Given the description of an element on the screen output the (x, y) to click on. 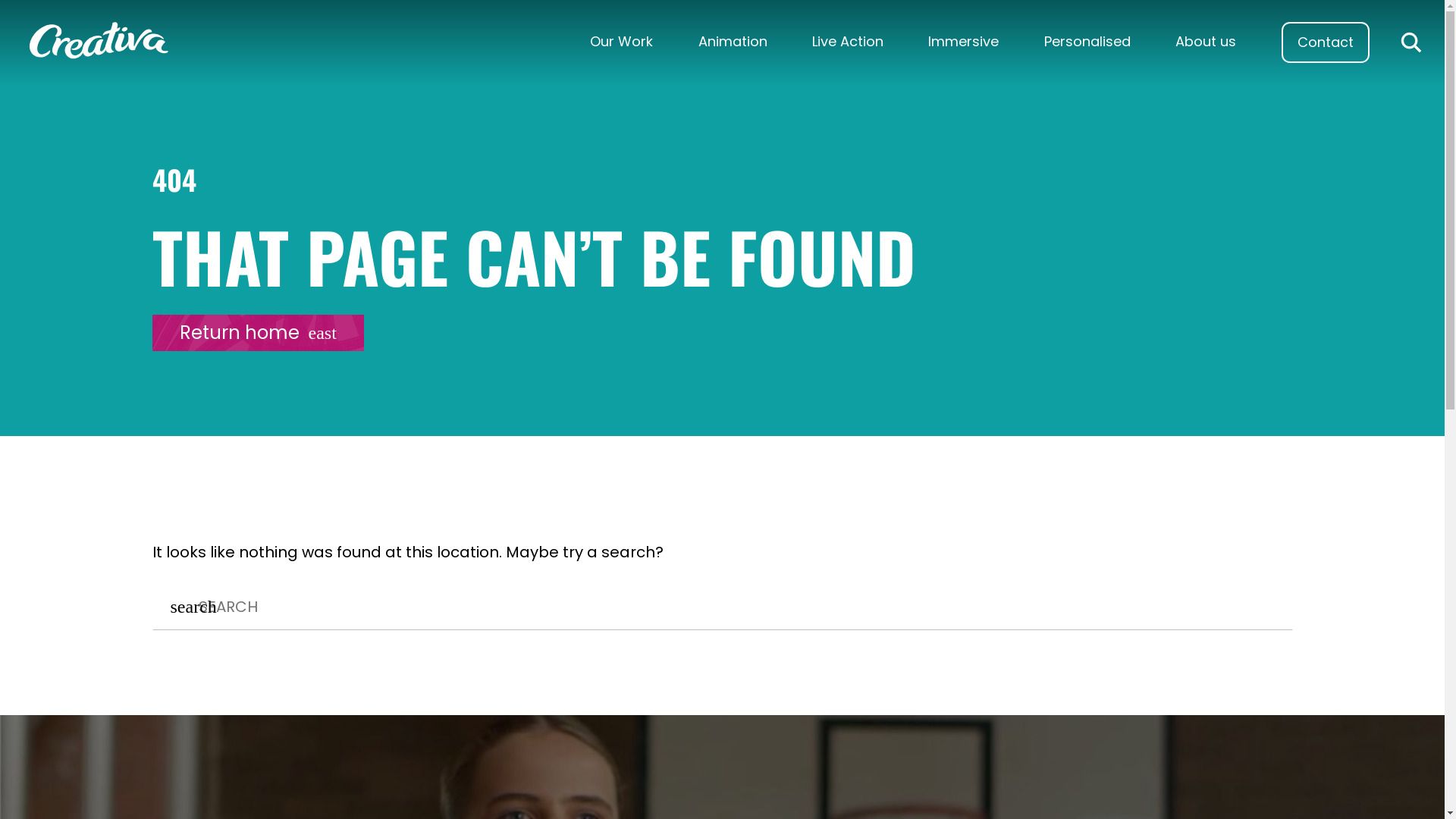
Immersive Element type: text (963, 42)
About us Element type: text (1205, 42)
Animation Element type: text (731, 42)
Our Work Element type: text (620, 42)
Live Action Element type: text (847, 42)
Contact Element type: text (1325, 41)
Return home Element type: text (257, 332)
Personalised Element type: text (1087, 42)
